Given the description of an element on the screen output the (x, y) to click on. 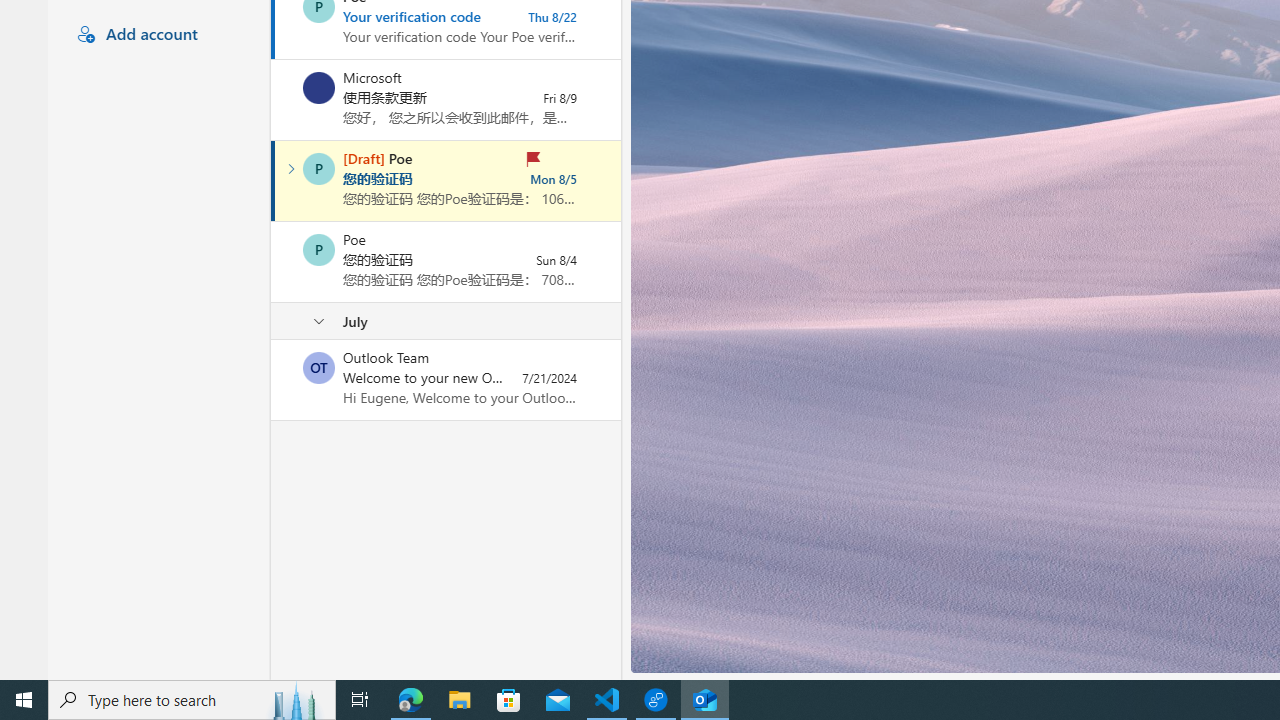
Expand conversation (291, 168)
Select a conversation (319, 367)
Microsoft (319, 87)
Mark as unread (273, 379)
Outlook Team (319, 367)
Poe (319, 249)
Mark as read (273, 181)
